Given the description of an element on the screen output the (x, y) to click on. 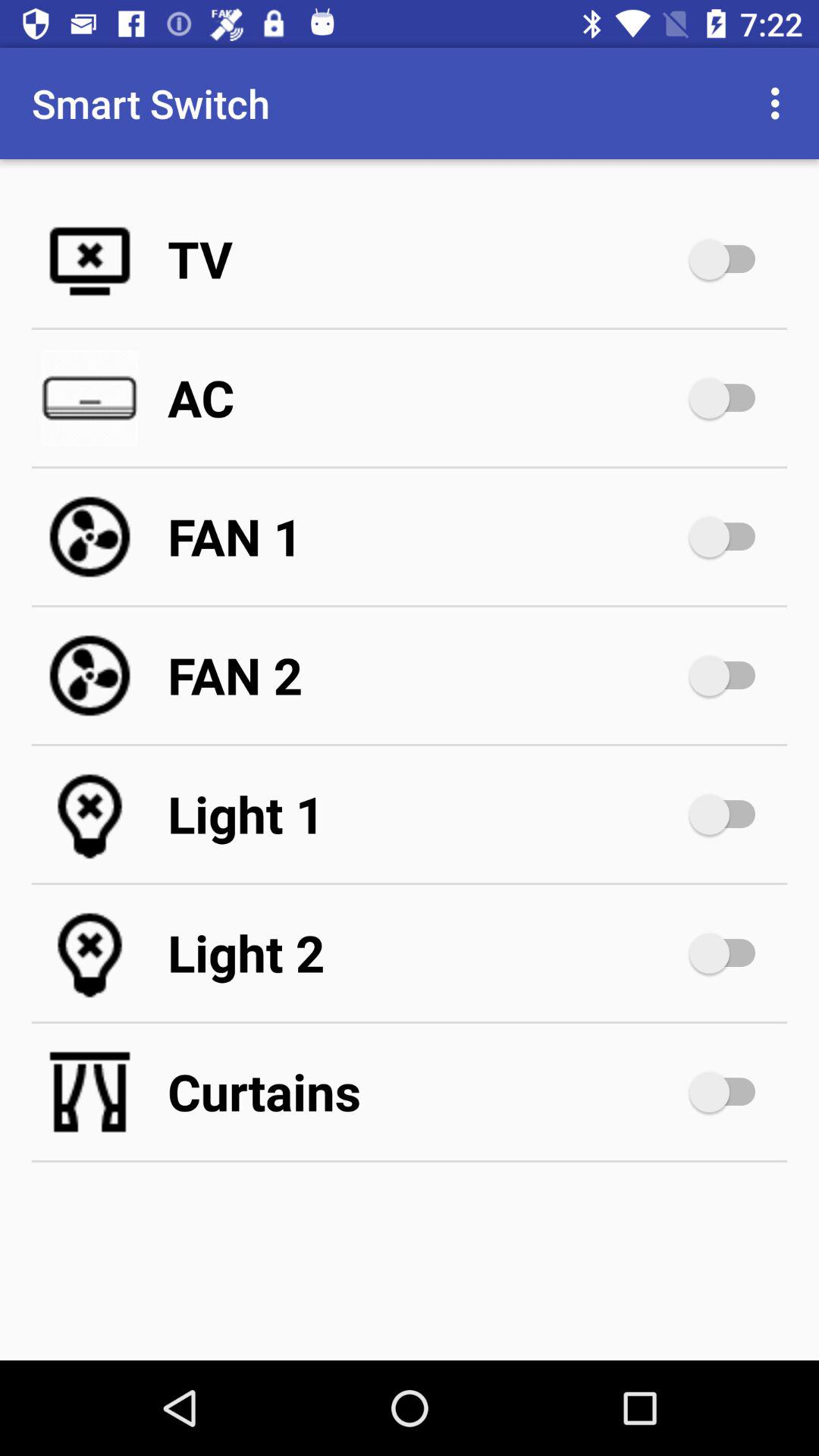
select icon below light 2 icon (424, 1091)
